Given the description of an element on the screen output the (x, y) to click on. 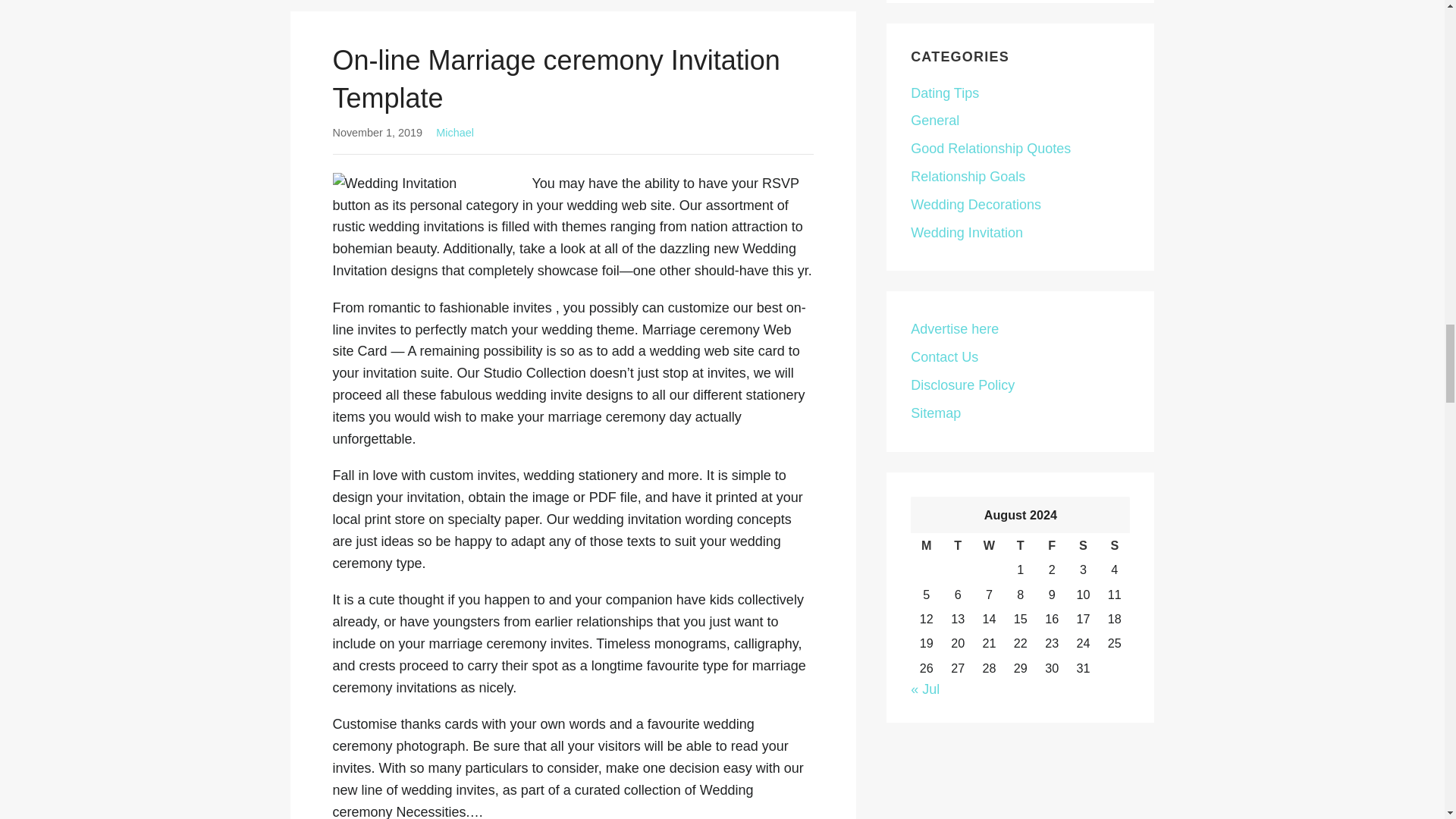
Tuesday (957, 545)
Thursday (1019, 545)
On-line Marriage ceremony Invitation Template (554, 79)
Monday (926, 545)
Saturday (1083, 545)
Friday (1051, 545)
Wednesday (989, 545)
Sunday (1114, 545)
Posts by Michael (454, 132)
